Given the description of an element on the screen output the (x, y) to click on. 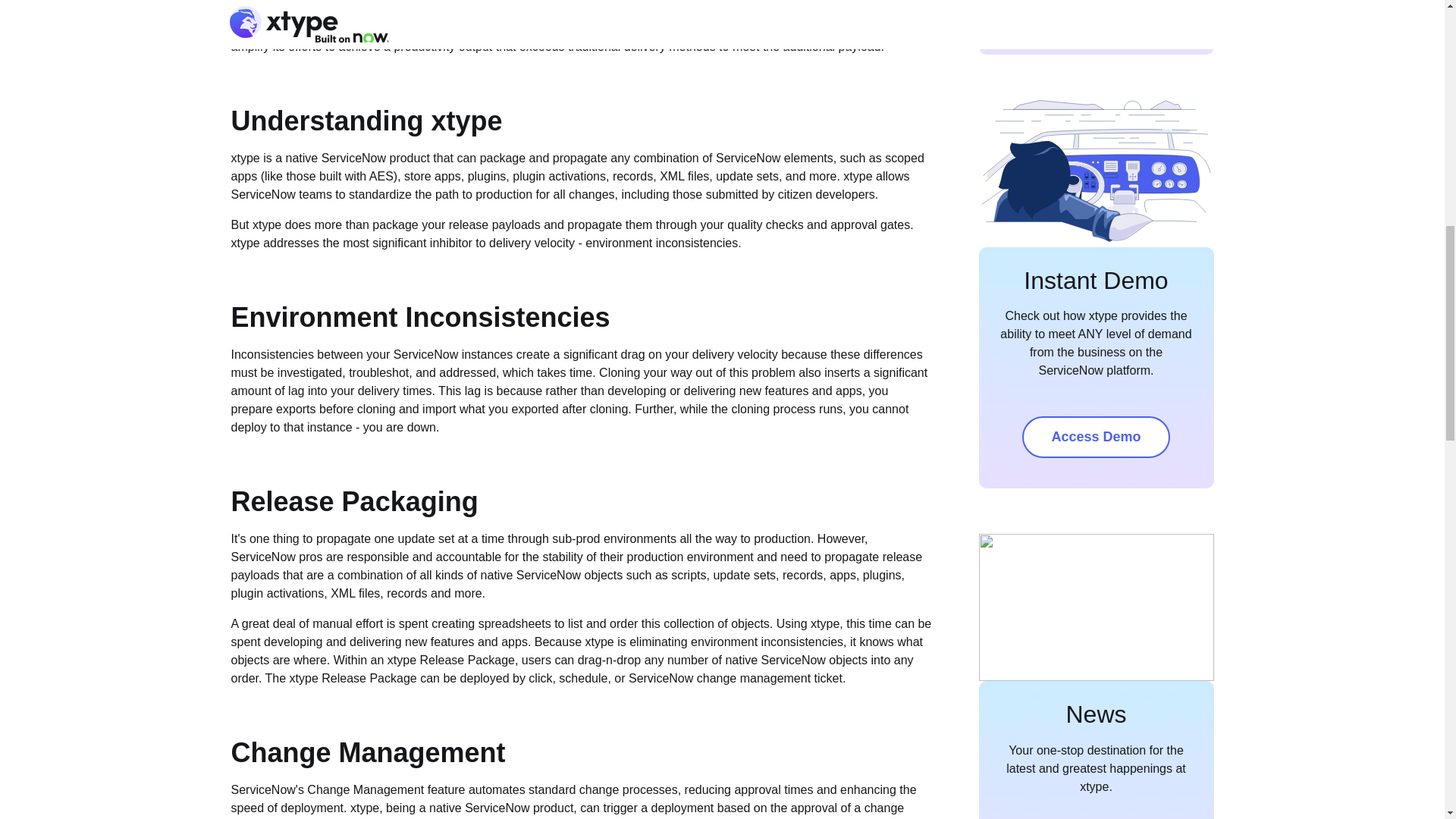
Get the eBook (1095, 12)
News (1095, 714)
Access Demo (1095, 436)
